Given the description of an element on the screen output the (x, y) to click on. 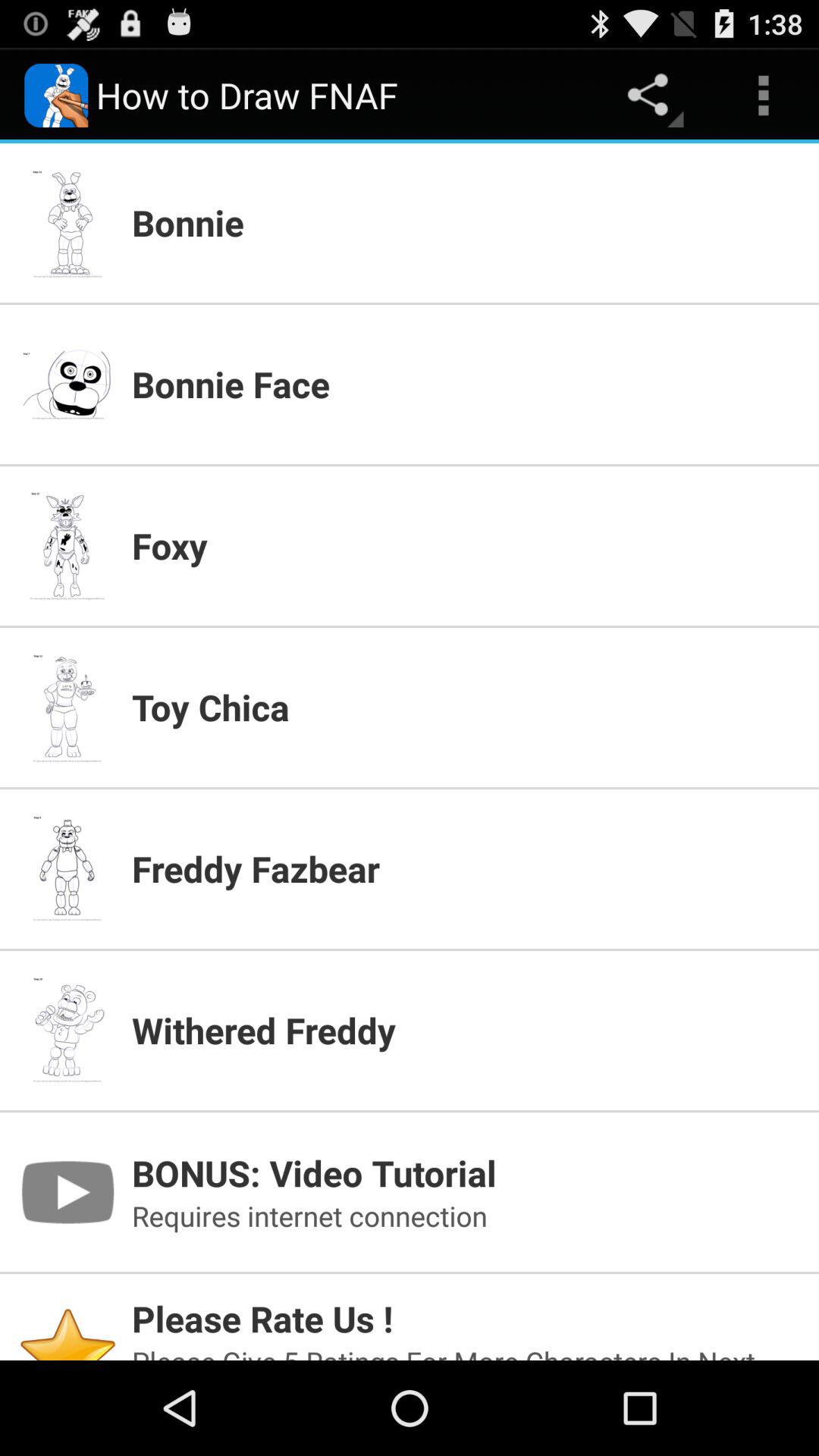
turn on the item below the bonnie face (465, 545)
